Given the description of an element on the screen output the (x, y) to click on. 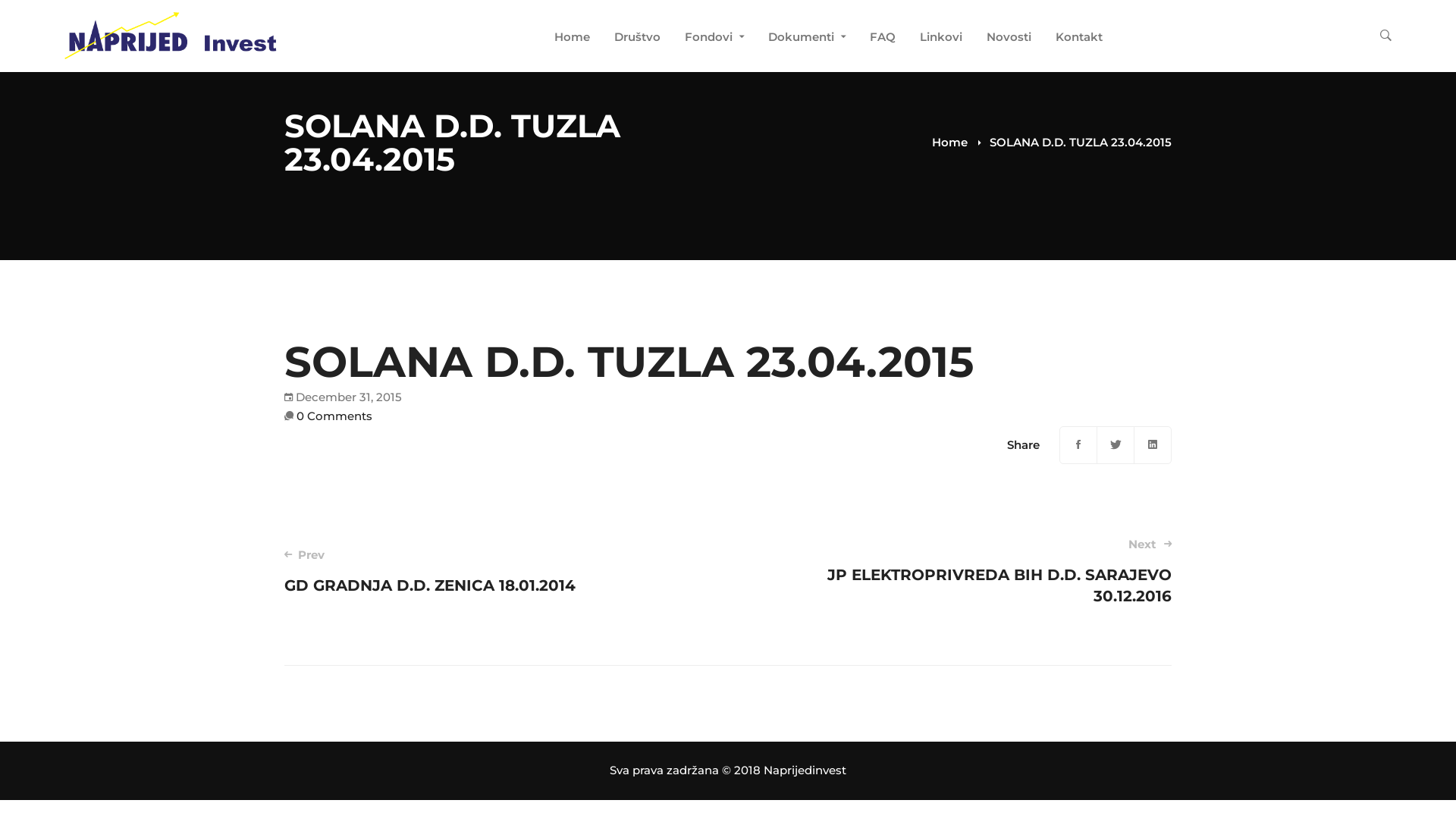
FAQ Element type: text (882, 39)
Home Element type: text (949, 141)
Novosti Element type: text (1008, 39)
Fondovi Element type: text (714, 39)
Prev
GD GRADNJA D.D. ZENICA 18.01.2014 Element type: text (488, 571)
Dokumenti Element type: text (806, 39)
Linkovi Element type: text (940, 39)
Next
JP ELEKTROPRIVREDA BIH D.D. SARAJEVO 30.12.2016 Element type: text (967, 571)
Kontakt Element type: text (1078, 39)
Home Element type: text (571, 39)
0 Comments Element type: text (334, 415)
